Given the description of an element on the screen output the (x, y) to click on. 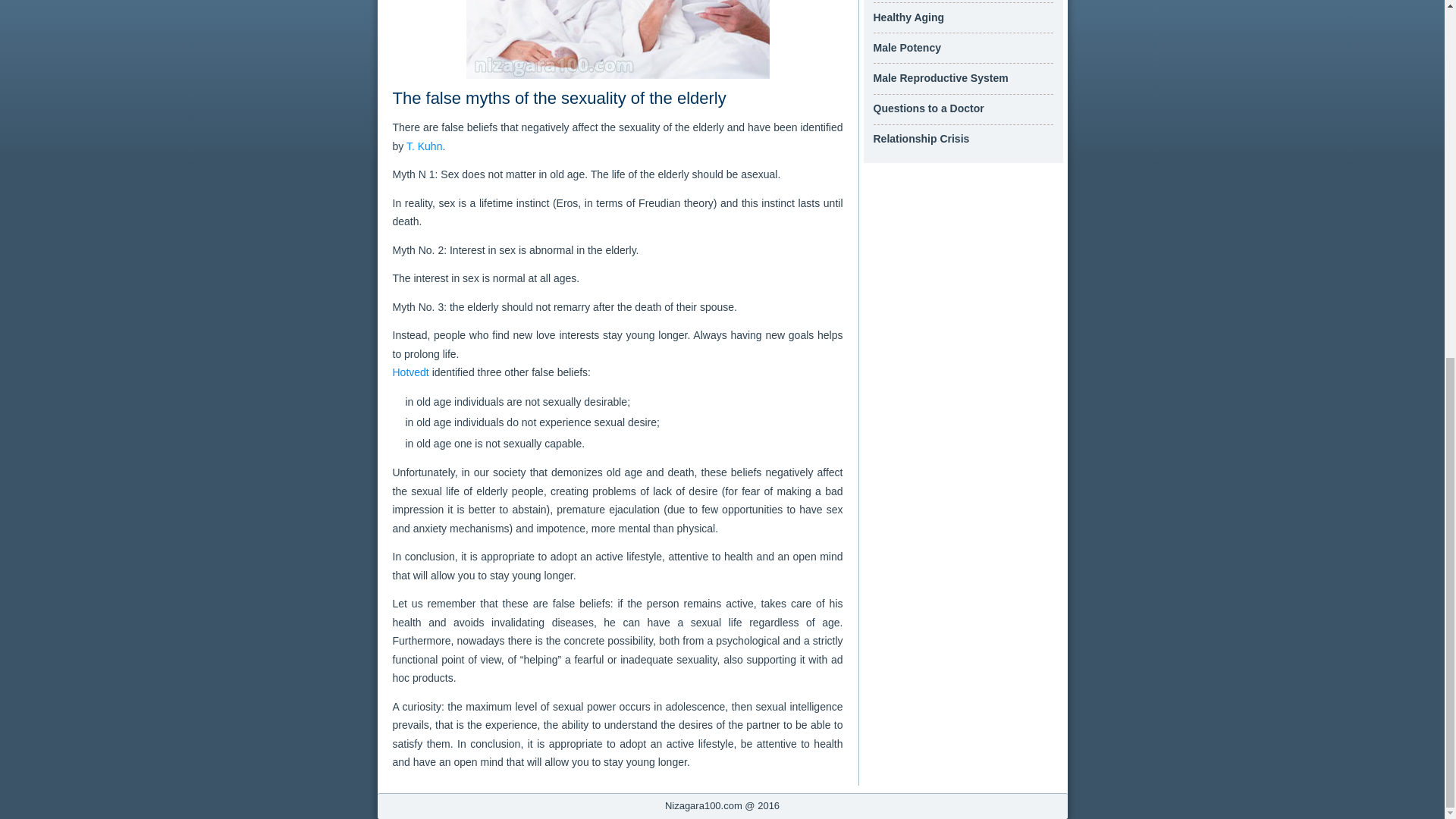
Questions to a Doctor (928, 108)
Relationship Crisis (921, 138)
Healthy Aging (908, 17)
Male Reproductive System (941, 78)
T. Kuhn (424, 146)
Male Potency (906, 47)
Hotvedt (411, 372)
